Given the description of an element on the screen output the (x, y) to click on. 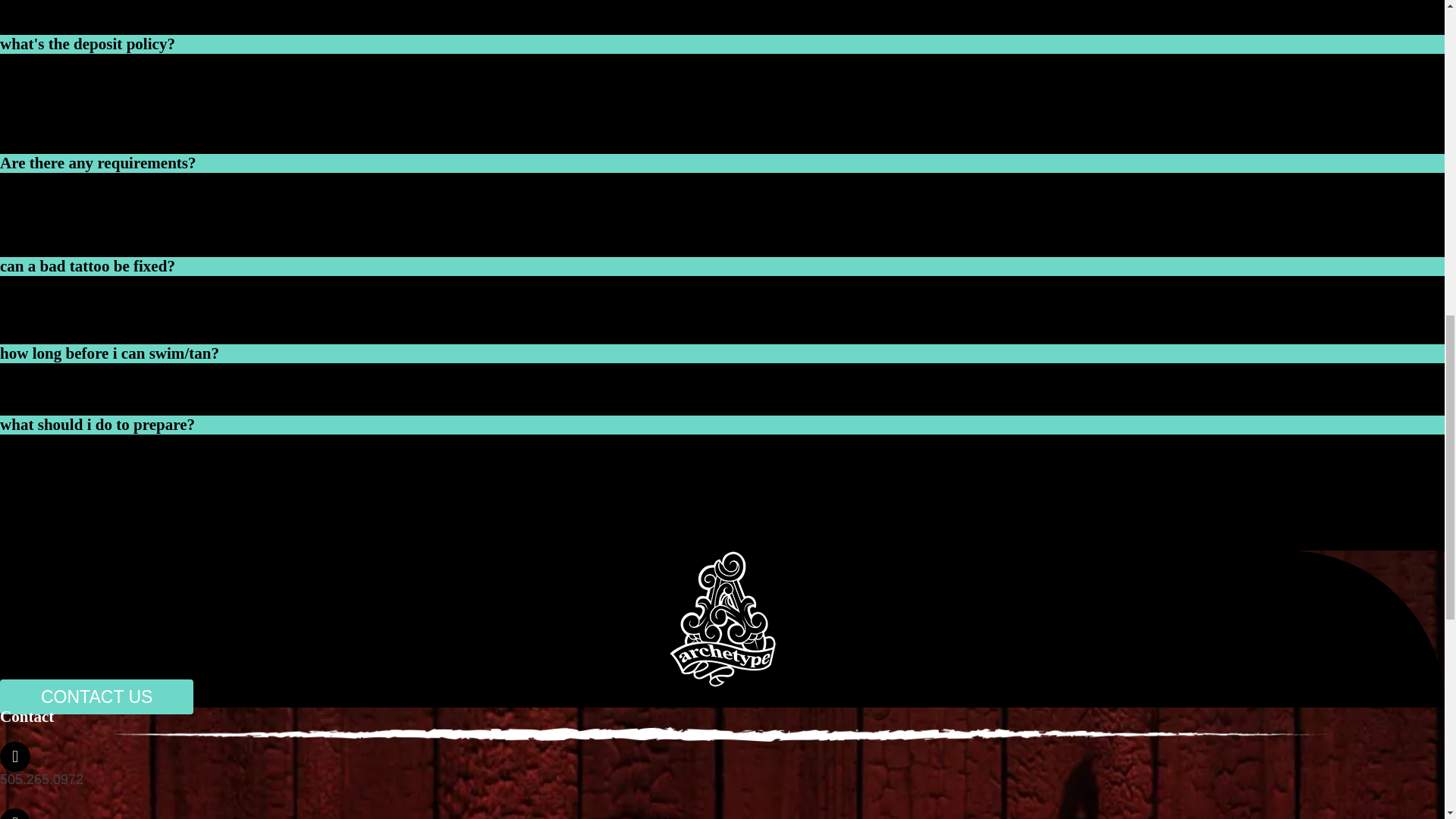
CONTACT US (96, 696)
505.265.0972 (41, 779)
